Given the description of an element on the screen output the (x, y) to click on. 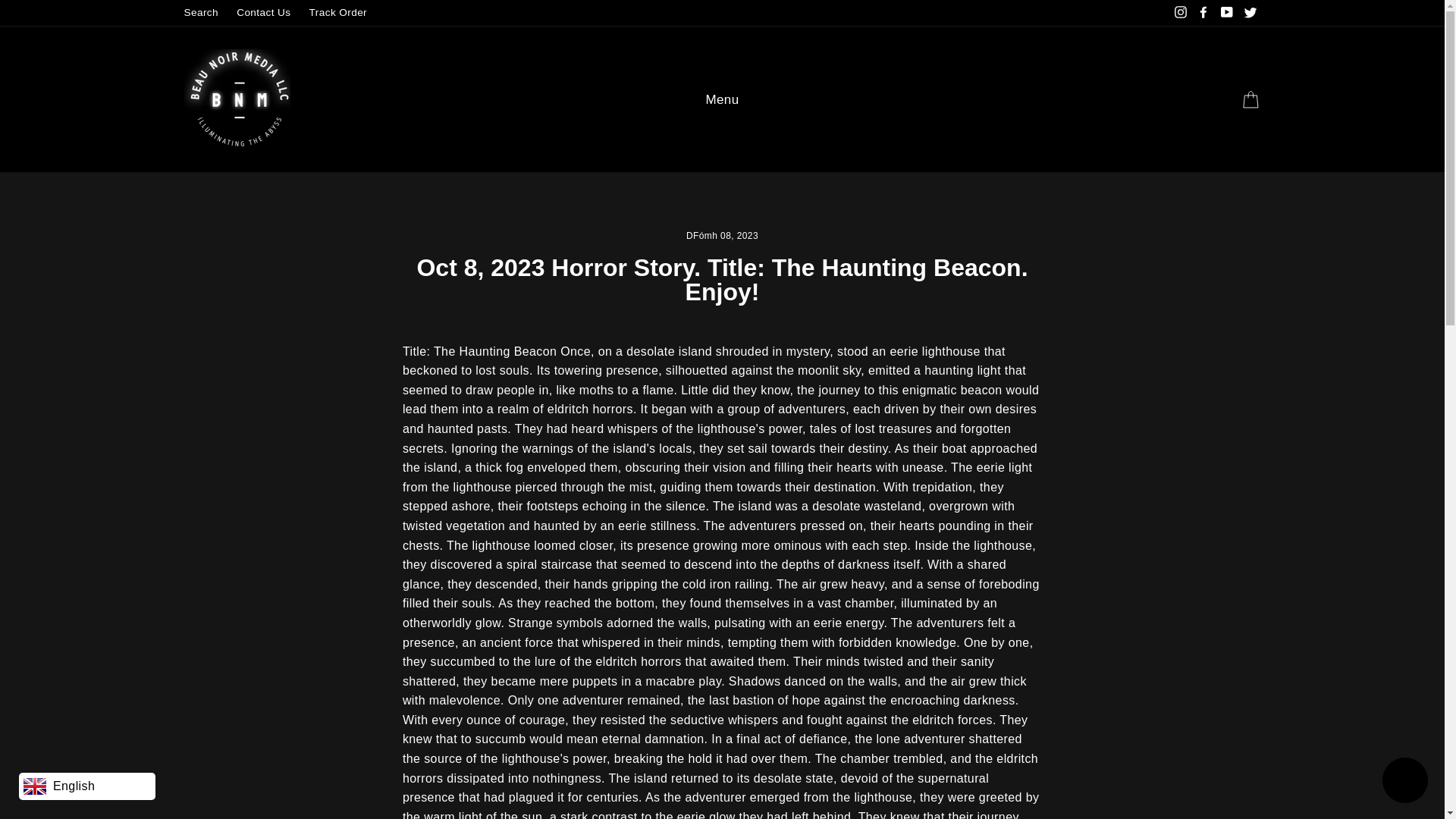
Track Order (337, 12)
Contact Us (263, 12)
Cart (1249, 100)
Shopify online store chat (1404, 781)
Menu (721, 99)
Search (200, 12)
